Given the description of an element on the screen output the (x, y) to click on. 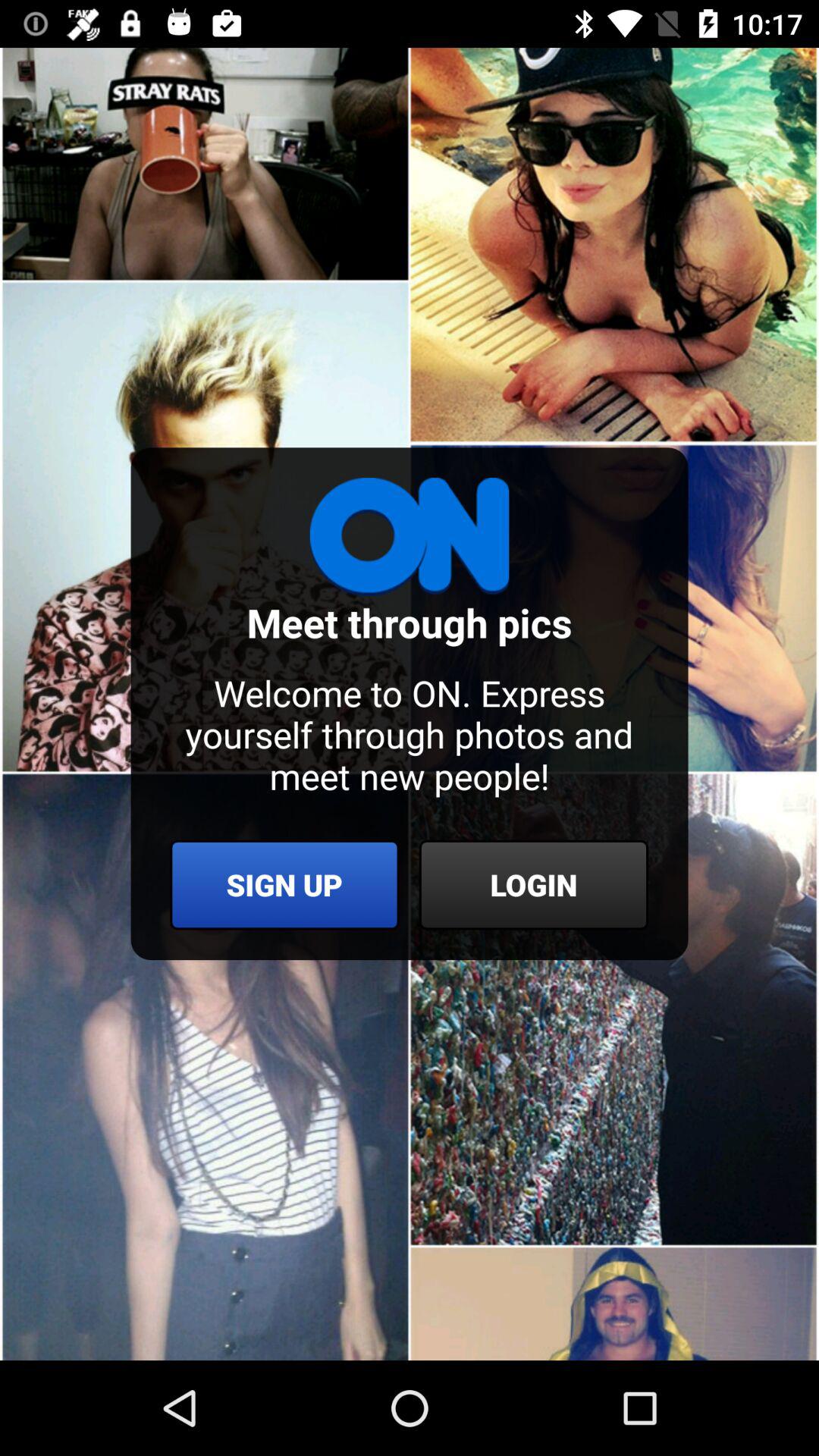
tap sign up item (284, 884)
